Given the description of an element on the screen output the (x, y) to click on. 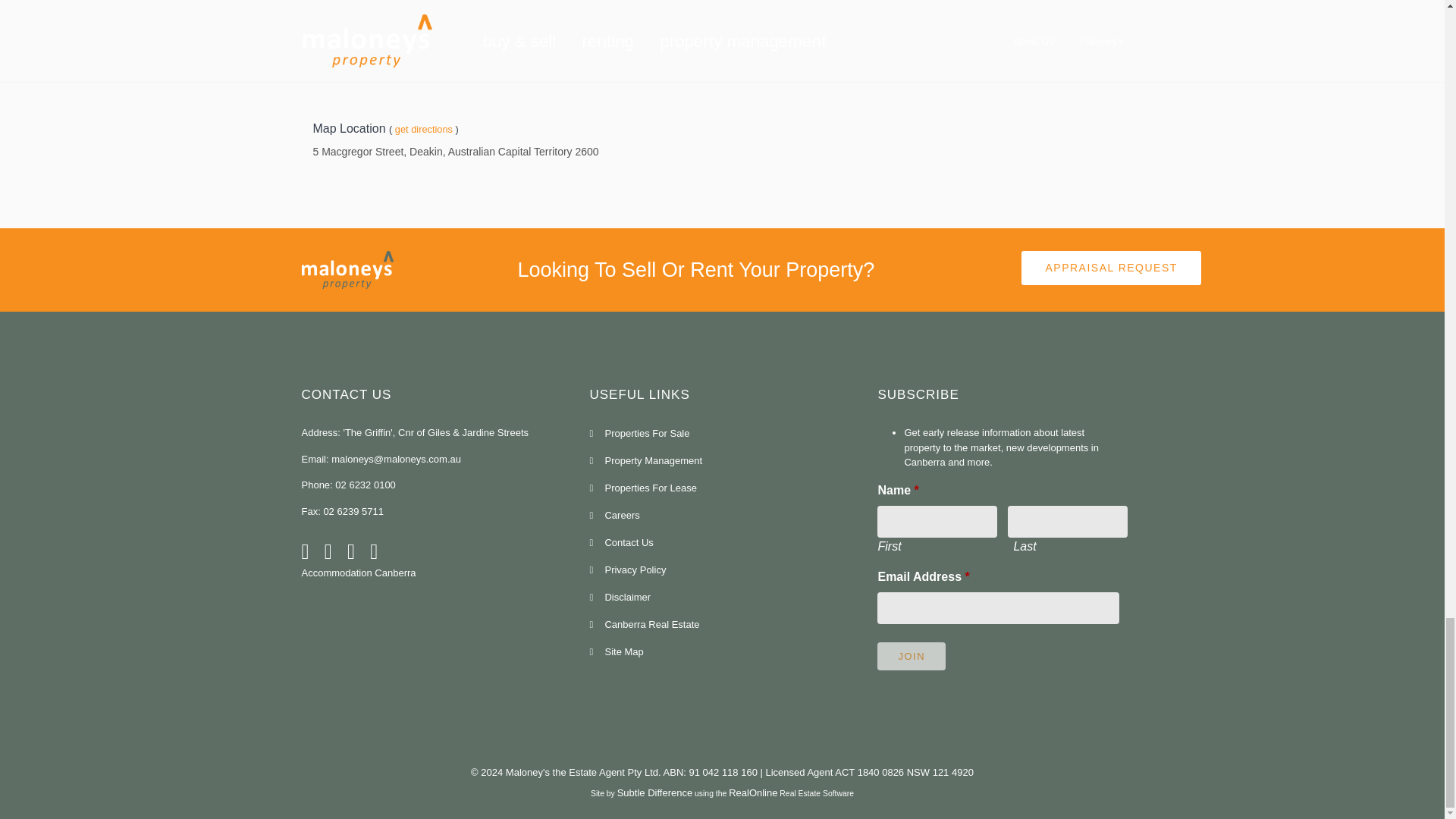
Email Address (997, 608)
Last Name (1066, 521)
First Name (936, 521)
